Given the description of an element on the screen output the (x, y) to click on. 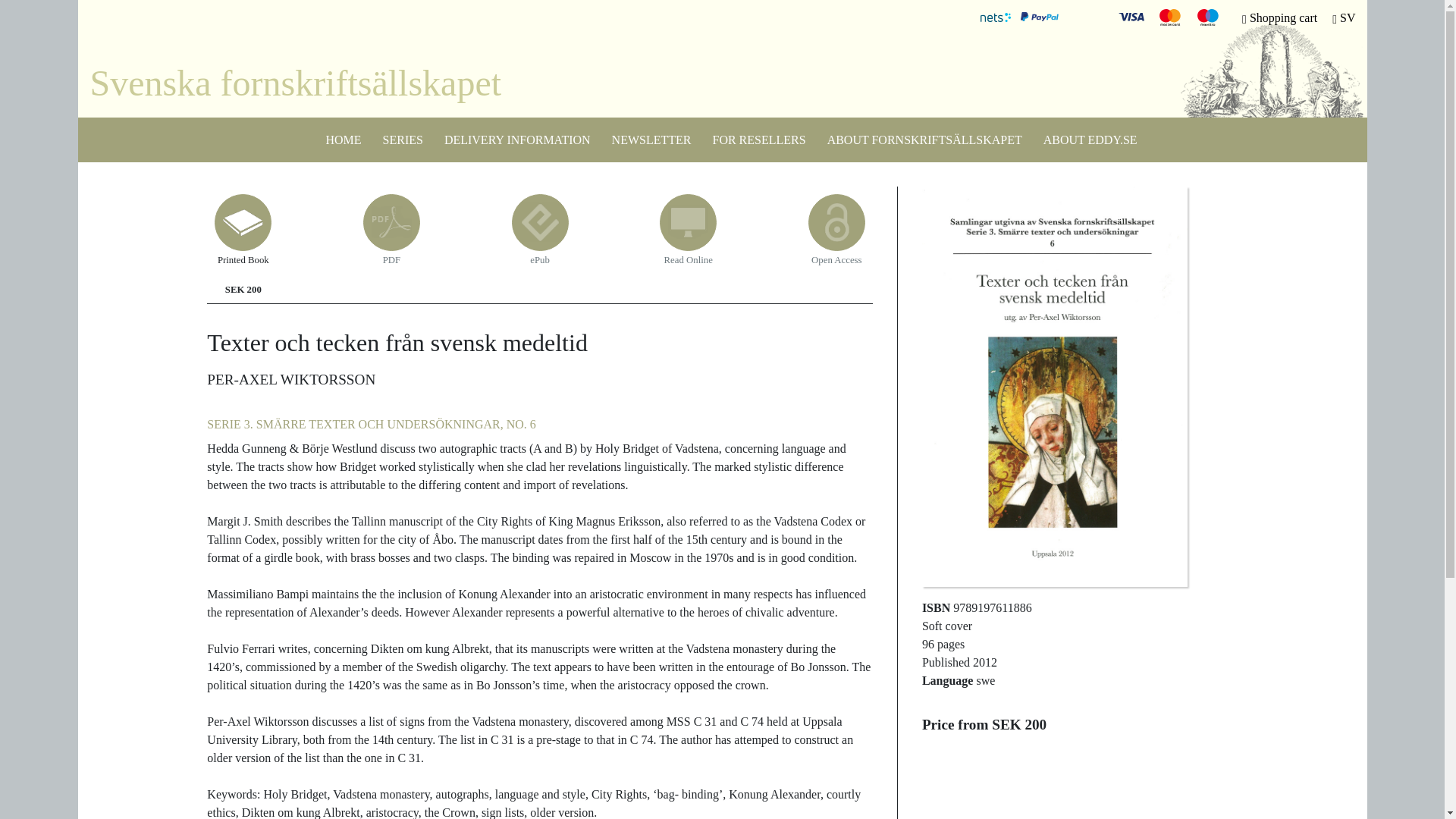
DELIVERY INFORMATION (508, 136)
SV (1343, 17)
SERIES (394, 136)
FOR RESELLERS (749, 136)
ABOUT EDDY.SE (1081, 136)
NEWSLETTER (642, 136)
Shopping cart (1279, 17)
HOME (334, 136)
